Given the description of an element on the screen output the (x, y) to click on. 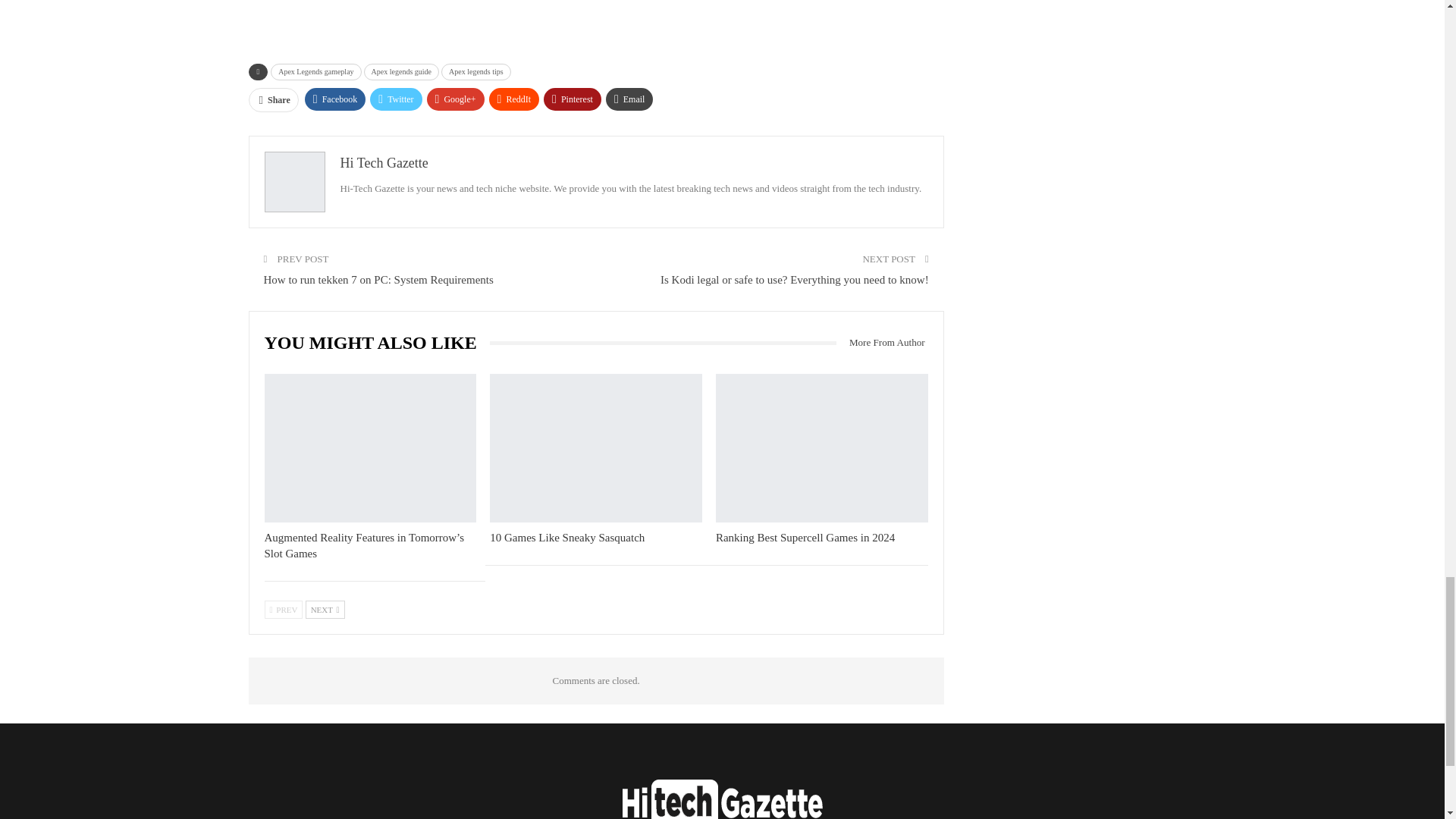
10 Games Like Sneaky Sasquatch (567, 537)
Ranking Best Supercell Games in 2024 (805, 537)
Previous (282, 609)
Ranking Best Supercell Games in 2024 (822, 447)
10 Games Like Sneaky Sasquatch (595, 447)
Next (325, 609)
